Given the description of an element on the screen output the (x, y) to click on. 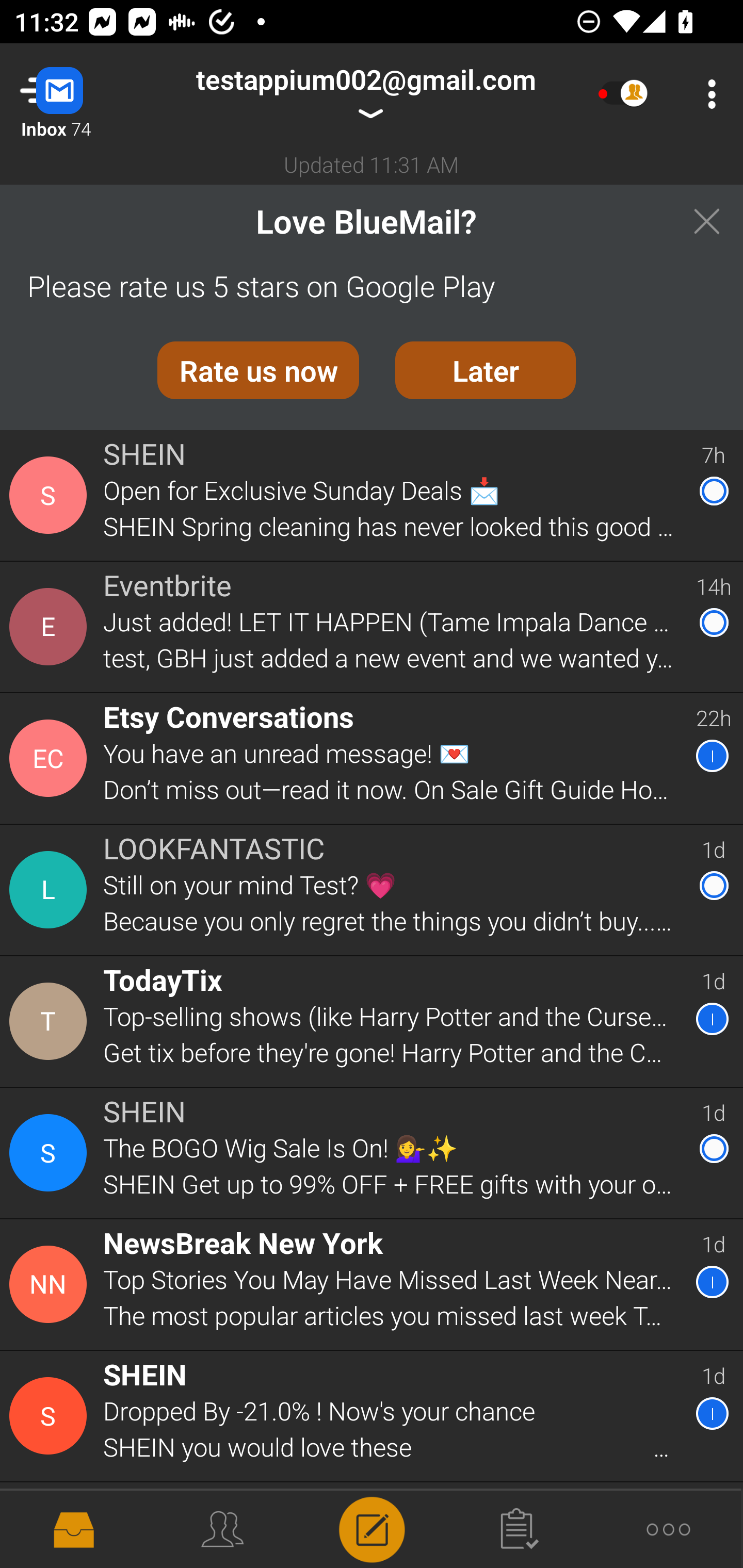
Navigate up (81, 93)
testappium002@gmail.com (365, 93)
More Options (706, 93)
Updated 11:31 AM (371, 164)
Rate us now (257, 370)
Later (485, 370)
Contact Details (50, 495)
Contact Details (50, 626)
Contact Details (50, 758)
Contact Details (50, 889)
Contact Details (50, 1021)
Contact Details (50, 1153)
Contact Details (50, 1284)
Contact Details (50, 1416)
Contact Details (50, 1524)
Compose (371, 1528)
